Given the description of an element on the screen output the (x, y) to click on. 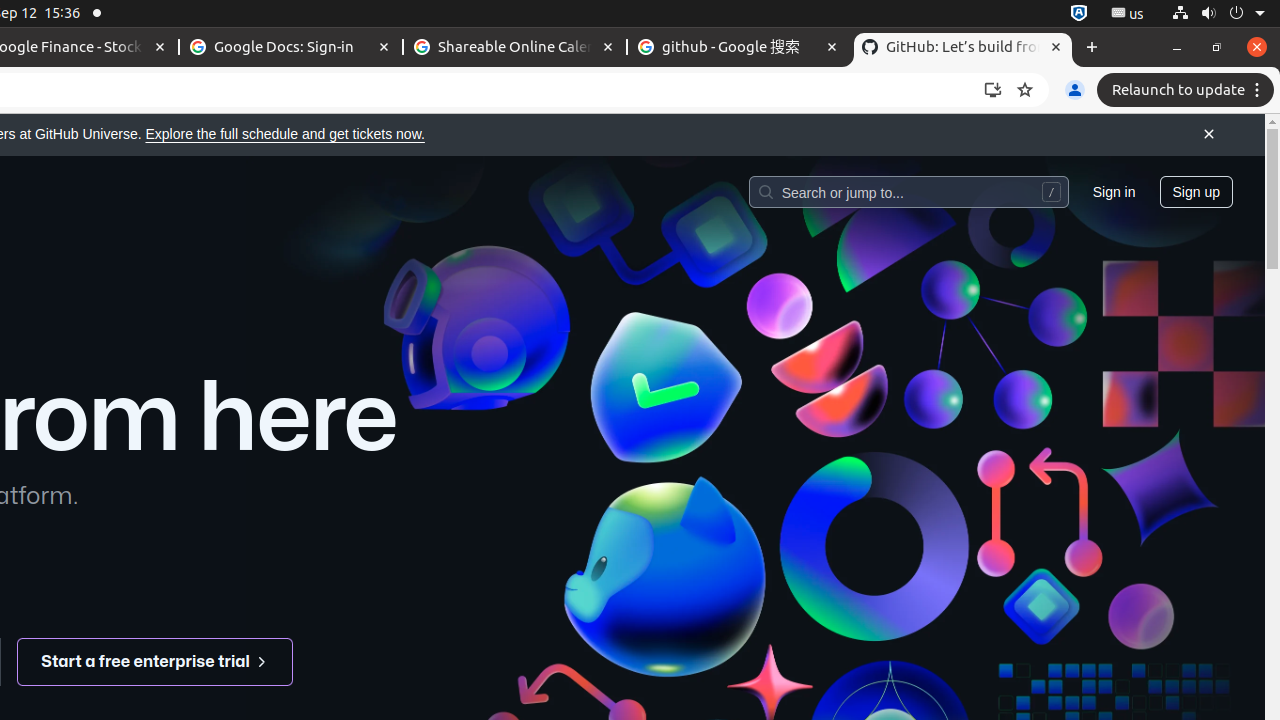
github - Google 搜索 - Memory usage - 111 MB Element type: page-tab (739, 47)
Close Element type: push-button (1209, 135)
Explore the full schedule and get tickets now. Element type: link (285, 133)
Install GitHub Element type: push-button (993, 90)
Google Docs: Sign-in - Memory usage - 31.9 MB Element type: page-tab (291, 47)
